Given the description of an element on the screen output the (x, y) to click on. 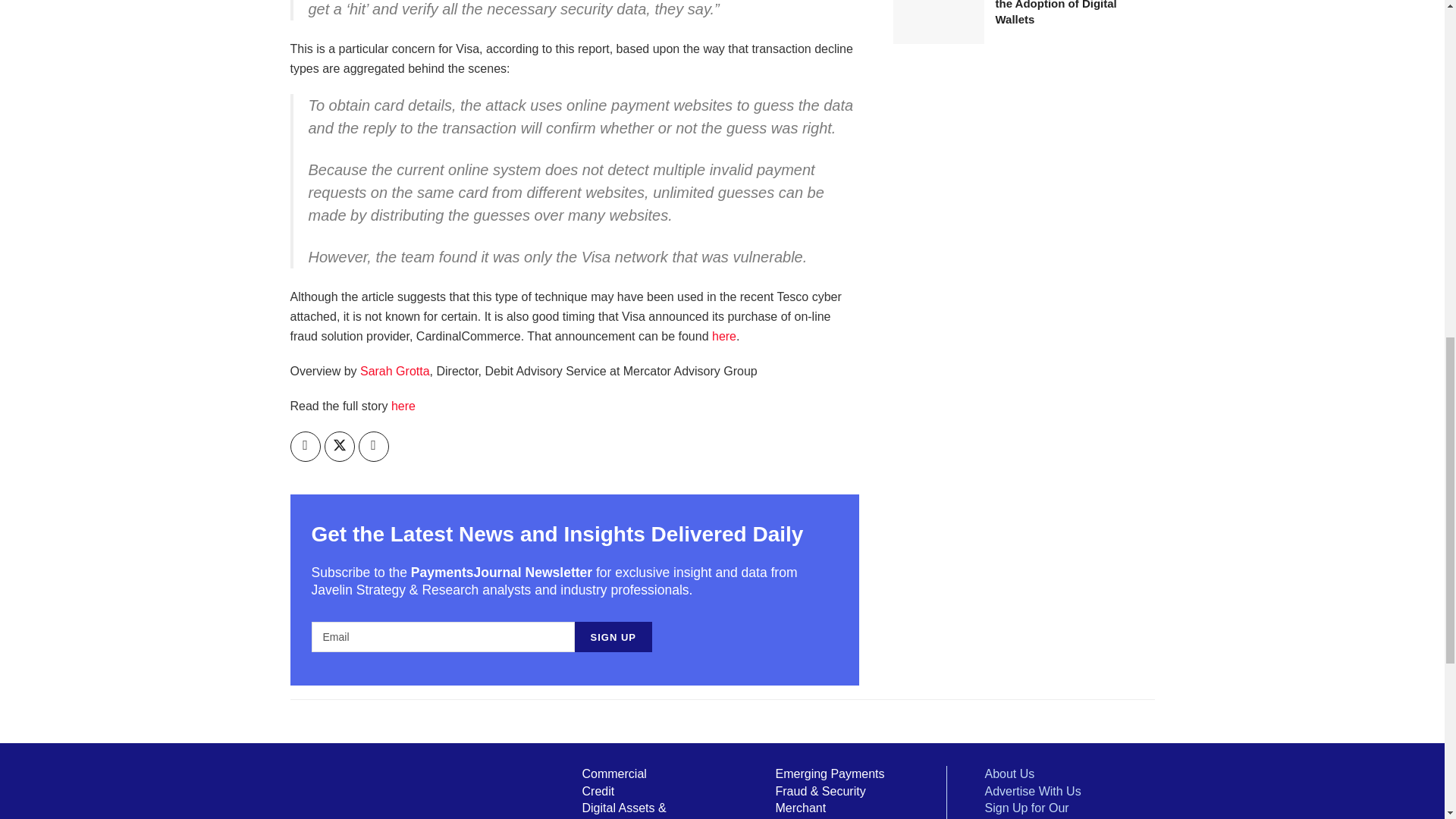
here (402, 405)
Sarah Grotta (394, 370)
 here (722, 336)
Sign Up (613, 636)
here (722, 336)
Sarah Grotta (394, 370)
Email (442, 636)
here (402, 405)
